Given the description of an element on the screen output the (x, y) to click on. 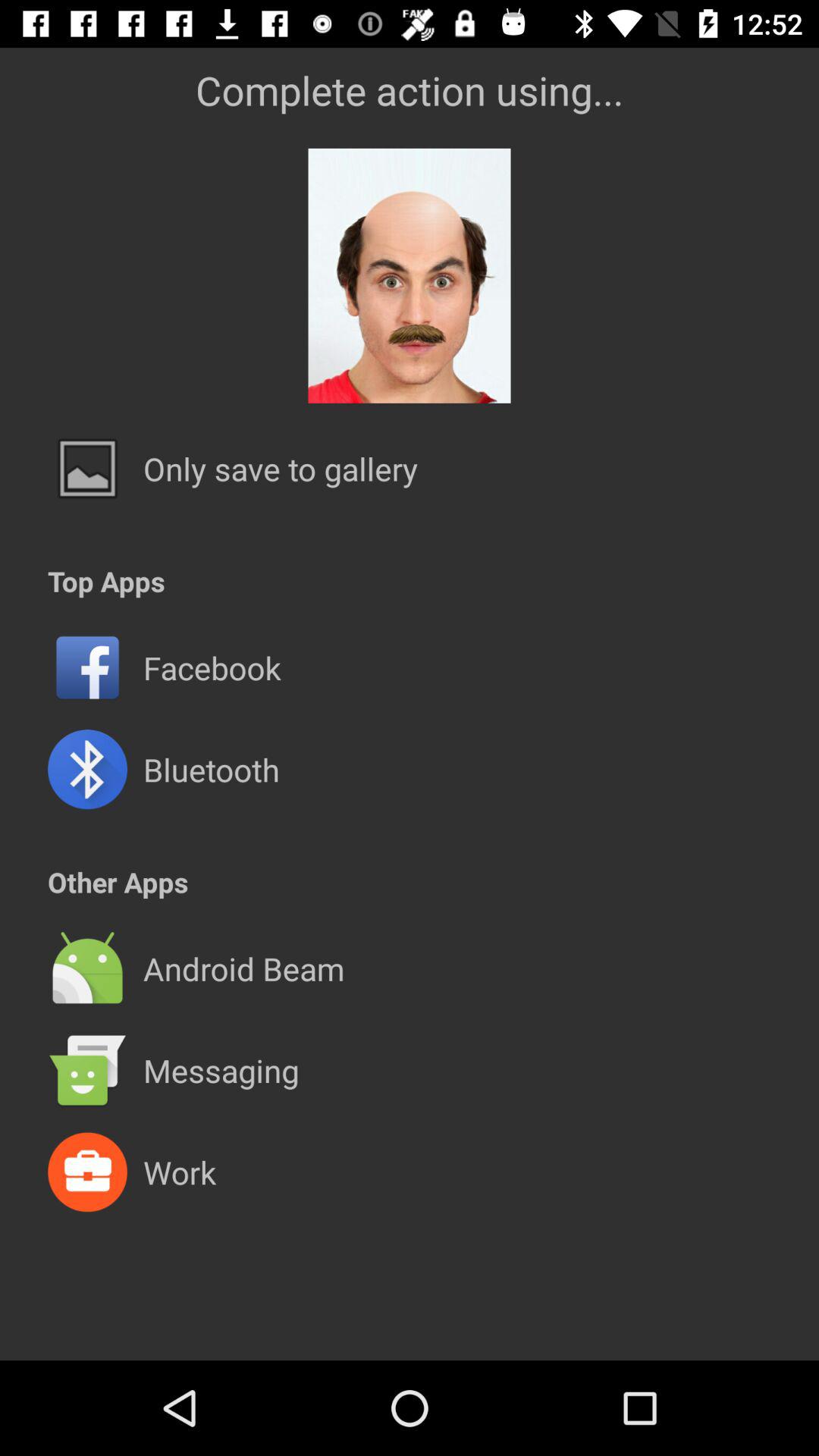
turn off the only save to item (280, 468)
